Given the description of an element on the screen output the (x, y) to click on. 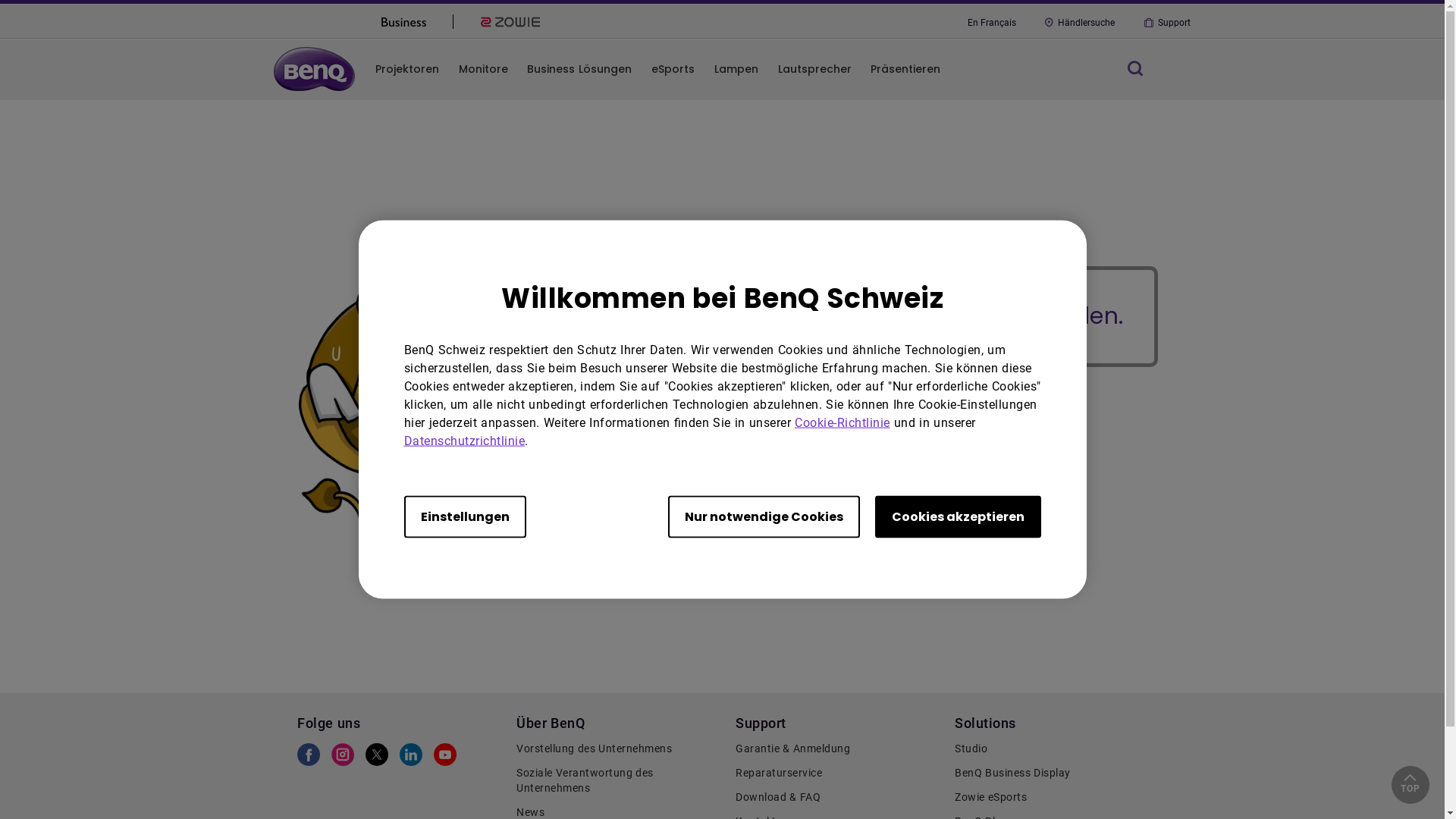
Lampen Element type: text (735, 68)
BenQ Youtube Element type: hover (444, 757)
Zowie eSports Element type: text (1056, 797)
BenQ LinkedIn Element type: hover (410, 757)
Support Element type: text (1165, 23)
BenQ Instagram Element type: hover (342, 757)
Where to buy Element type: text (673, 464)
Cookies akzeptieren Element type: text (958, 516)
Lautsprecher Element type: text (813, 68)
Nur notwendige Cookies Element type: text (763, 516)
Reparaturservice Element type: text (837, 773)
Garantie & Anmeldung Element type: text (837, 748)
BenQ Twitter Element type: hover (376, 758)
Monitore Element type: text (482, 68)
Zowie eSports Element type: text (988, 489)
BenQ Facebook Element type: hover (308, 757)
Download & FAQ Element type: text (837, 797)
Lautsprecher Element type: text (673, 515)
Cookie-Richtlinie Element type: text (842, 421)
Studio Element type: text (1056, 748)
Projektoren Element type: text (407, 68)
Monitore Element type: text (673, 489)
Datenschutzrichtlinie Element type: text (463, 440)
Soziale Verantwortung des Unternehmens Element type: text (618, 780)
Vorstellung des Unternehmens Element type: text (618, 748)
eSports Element type: text (672, 68)
Einstellungen Element type: text (464, 516)
BenQ Business Display Element type: text (1056, 773)
Beleuchtung Element type: text (988, 440)
BenQ Business Display Element type: text (988, 464)
| BenQ Schweiz Element type: text (673, 440)
